Given the description of an element on the screen output the (x, y) to click on. 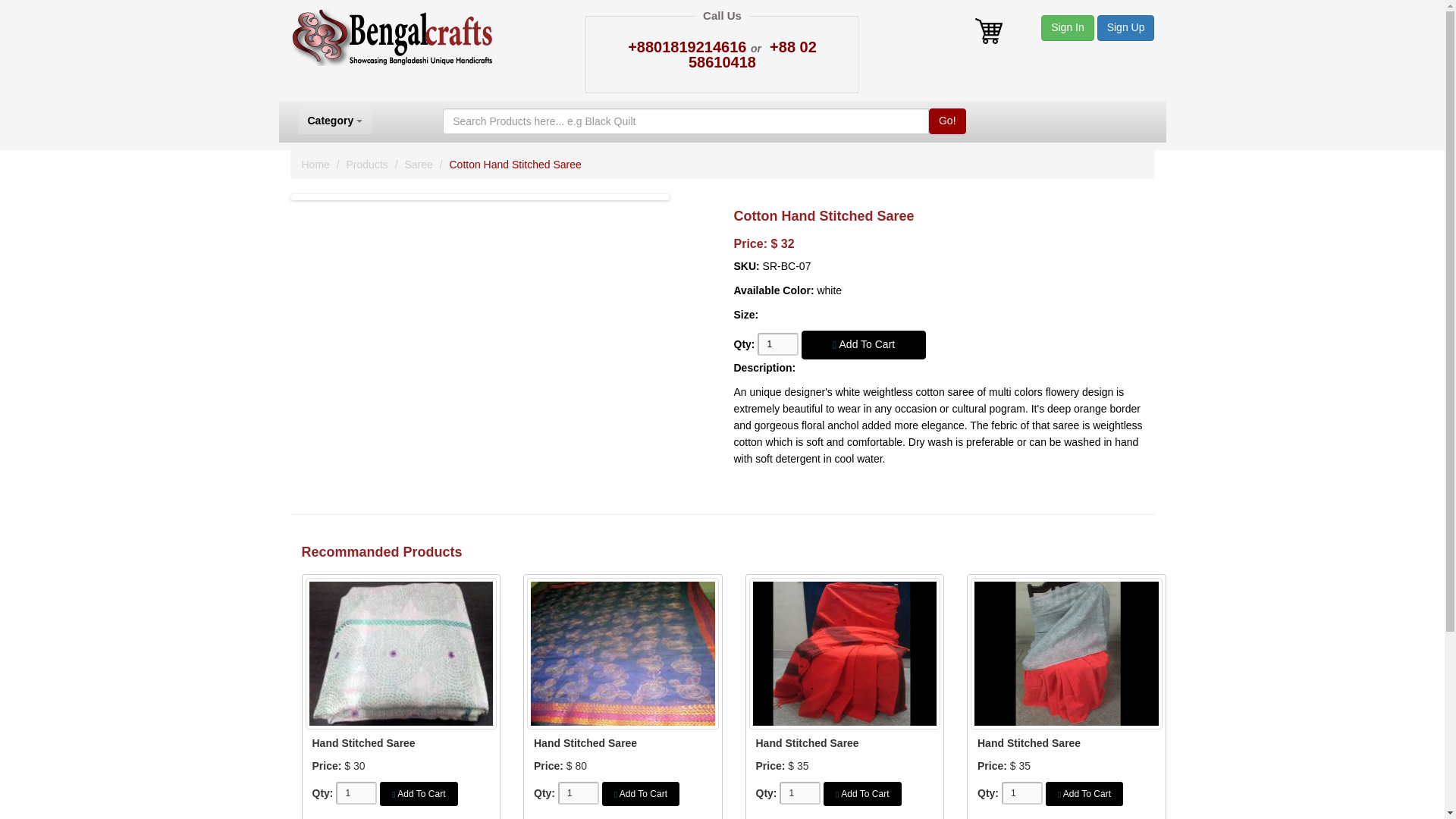
1 (777, 343)
1 (577, 793)
Sign Up (1125, 27)
1 (799, 793)
Category (334, 121)
Sign Up (1125, 27)
1 (1021, 793)
Sign In (1067, 27)
1 (356, 793)
Sign In (1067, 27)
